Given the description of an element on the screen output the (x, y) to click on. 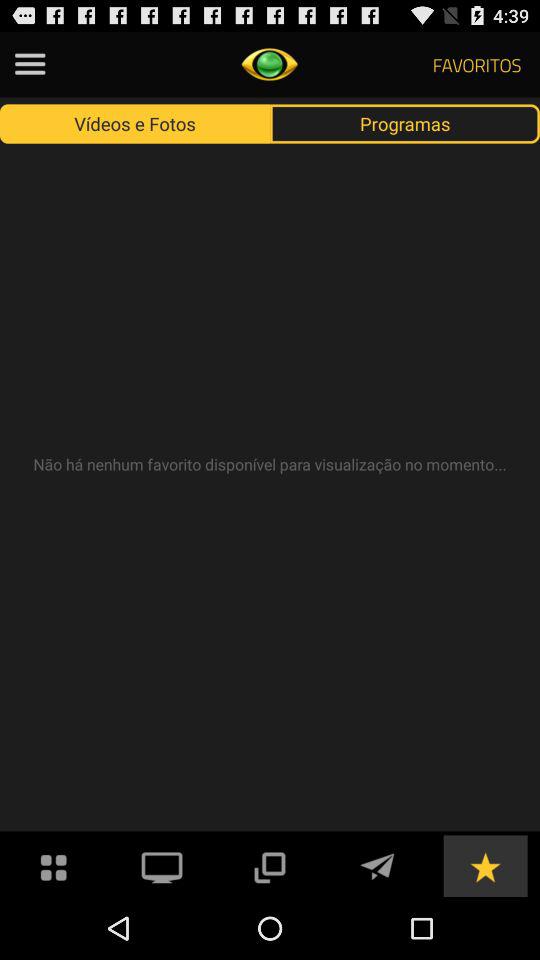
sent the messages (377, 865)
